Given the description of an element on the screen output the (x, y) to click on. 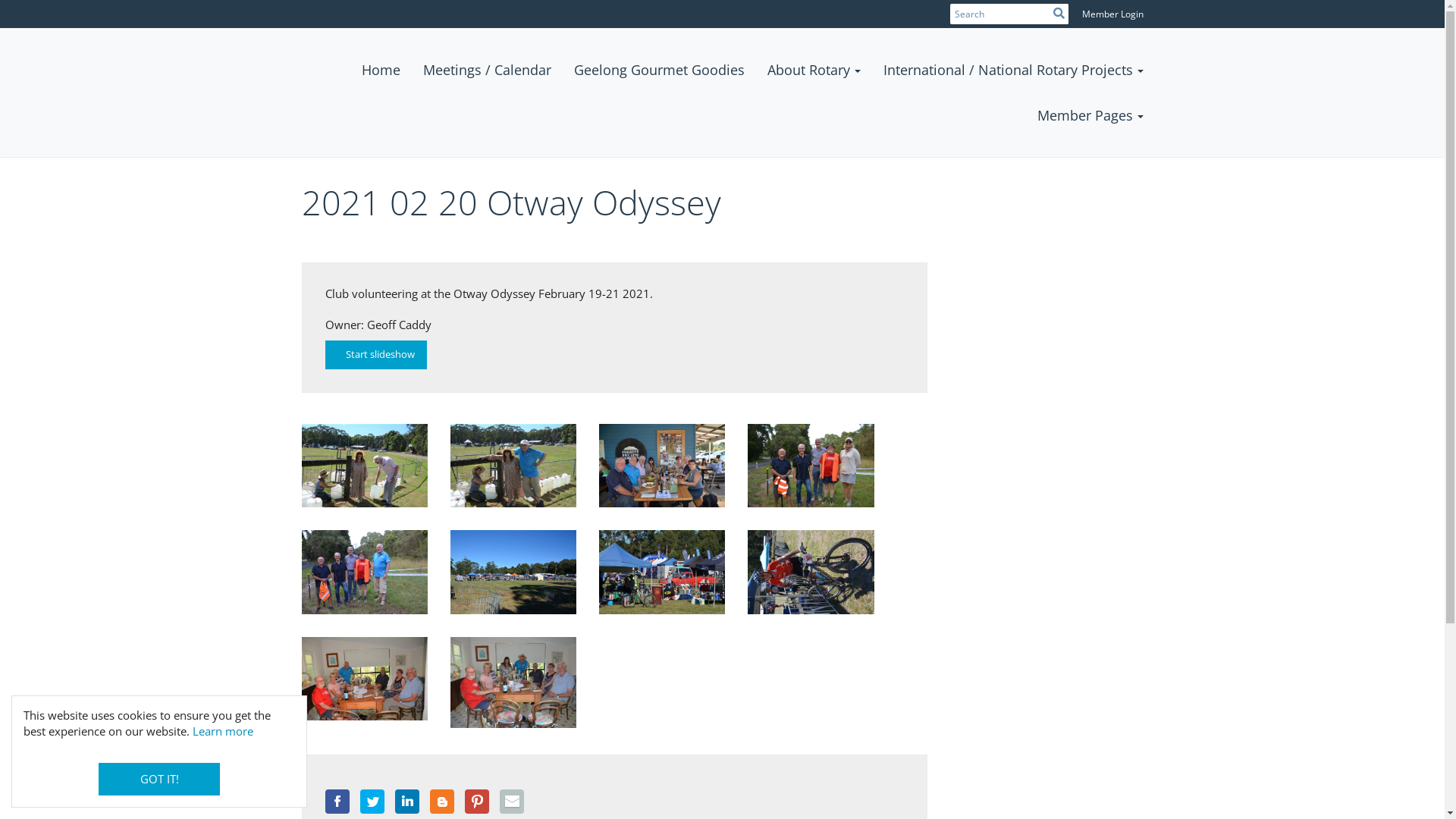
About Rotary Element type: text (813, 69)
Member Login Element type: text (1111, 13)
Geelong Gourmet Goodies Element type: text (659, 69)
International / National Rotary Projects Element type: text (1013, 69)
Member Pages Element type: text (1089, 115)
GOT IT! Element type: text (158, 778)
Home Element type: text (380, 69)
Meetings / Calendar Element type: text (486, 69)
Learn more Element type: text (222, 730)
